Given the description of an element on the screen output the (x, y) to click on. 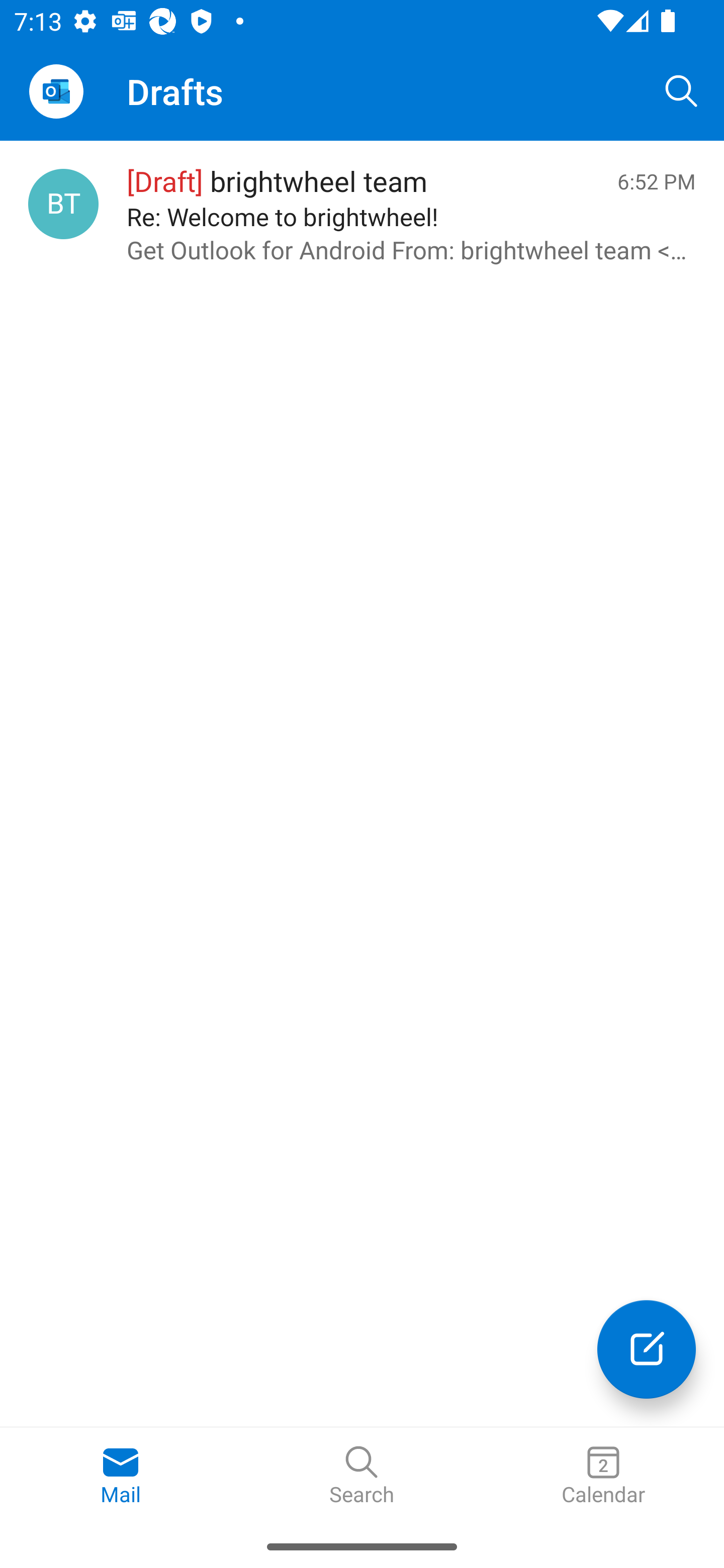
Search (681, 90)
Open Navigation Drawer (55, 91)
brightwheel team, testappium001@outlook.com (63, 204)
Compose (646, 1348)
Search (361, 1475)
Calendar (603, 1475)
